Given the description of an element on the screen output the (x, y) to click on. 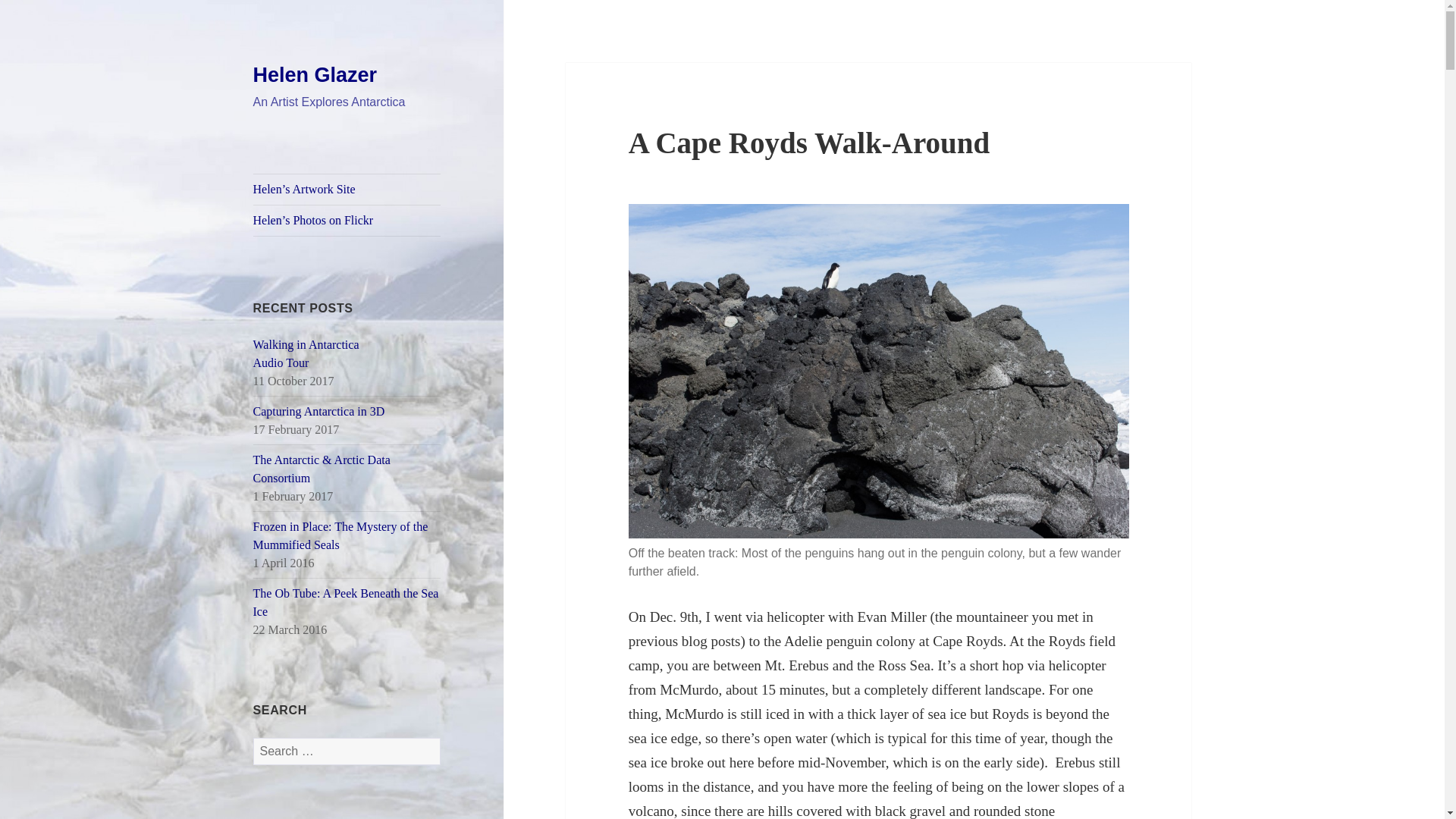
Helen Glazer (315, 74)
The Ob Tube: A Peek Beneath the Sea Ice (346, 602)
Frozen in Place: The Mystery of the Mummified Seals (306, 353)
Search (340, 535)
Search (319, 410)
